Given the description of an element on the screen output the (x, y) to click on. 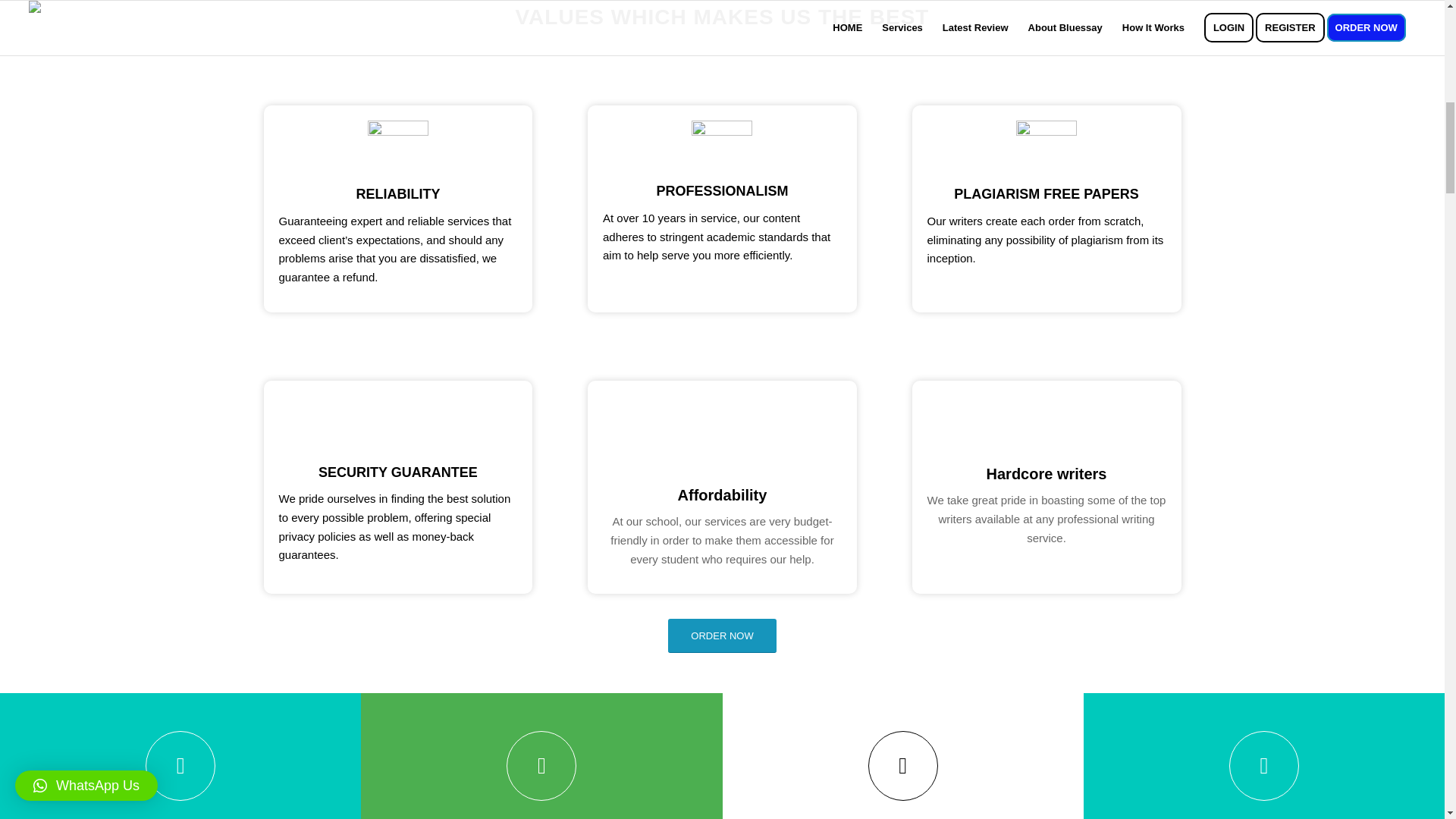
ORDER NOW (722, 635)
